Given the description of an element on the screen output the (x, y) to click on. 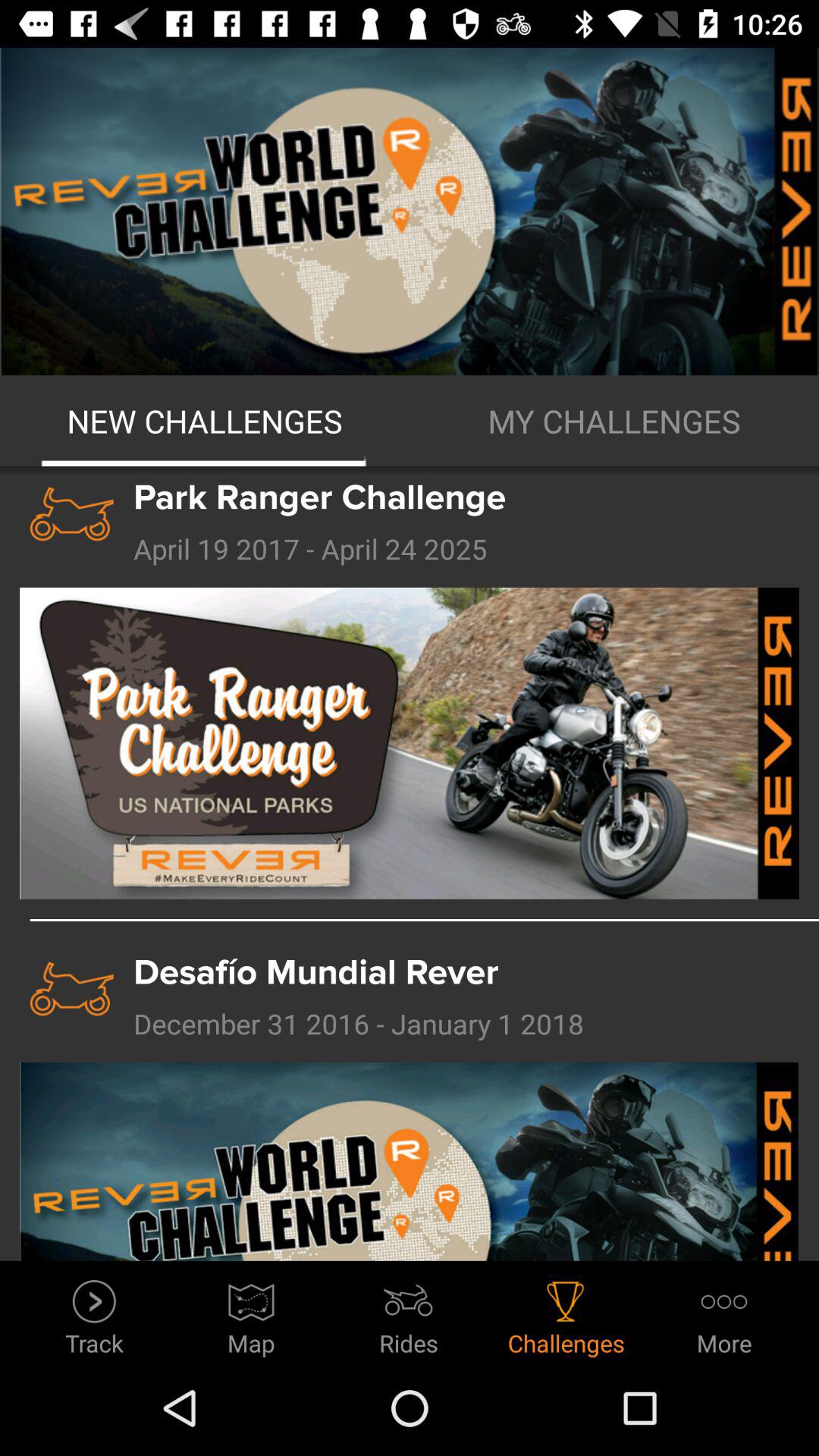
tap item to the left of map (93, 1313)
